Given the description of an element on the screen output the (x, y) to click on. 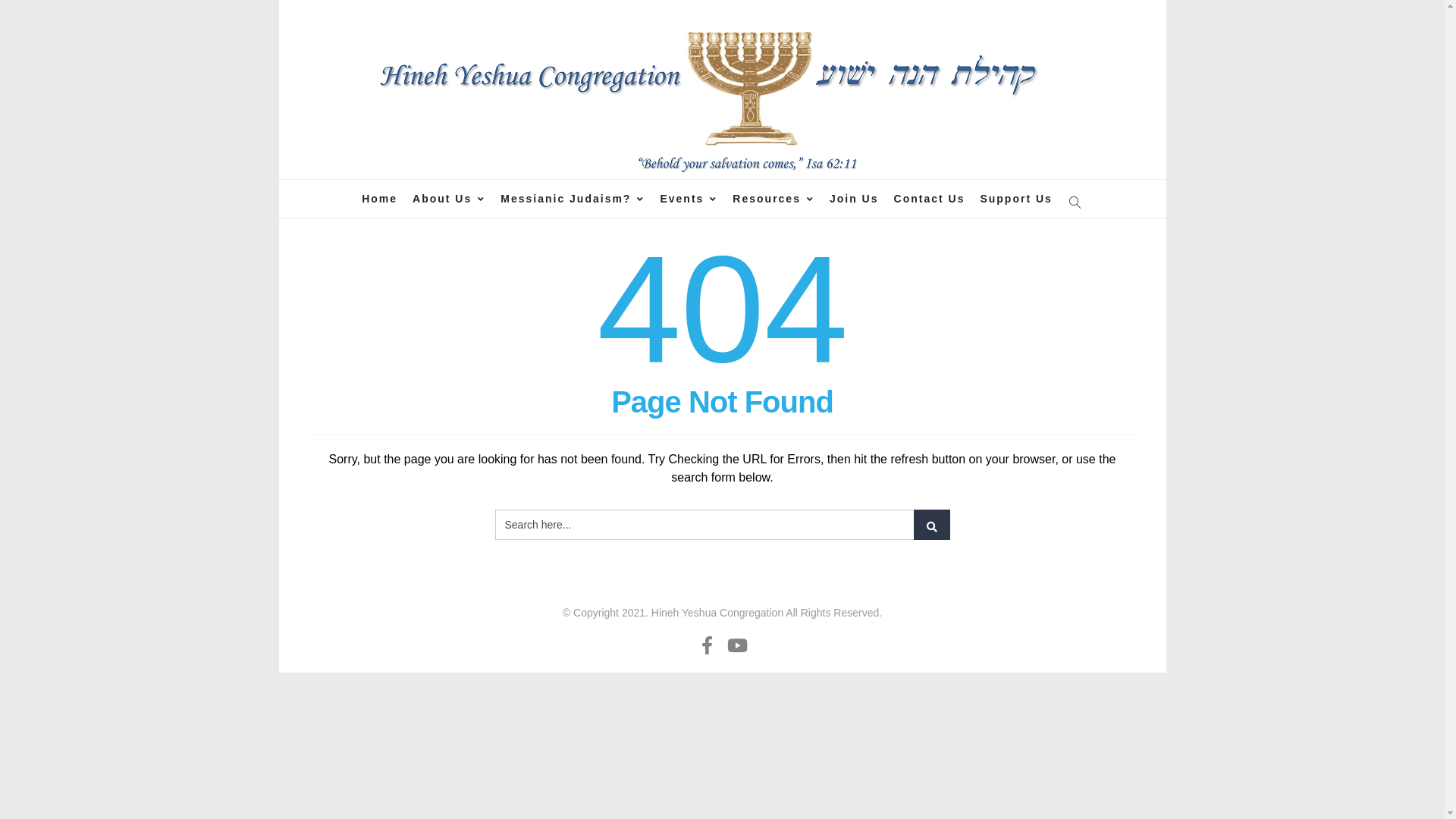
Support Us Element type: text (1015, 198)
Join Us Element type: text (854, 198)
Hineh Yeshua Congregation Element type: hover (721, 92)
Events Element type: text (688, 198)
Resources Element type: text (773, 198)
Home Element type: text (379, 198)
Contact Us Element type: text (929, 198)
About Us Element type: text (448, 198)
Messianic Judaism? Element type: text (572, 198)
